Given the description of an element on the screen output the (x, y) to click on. 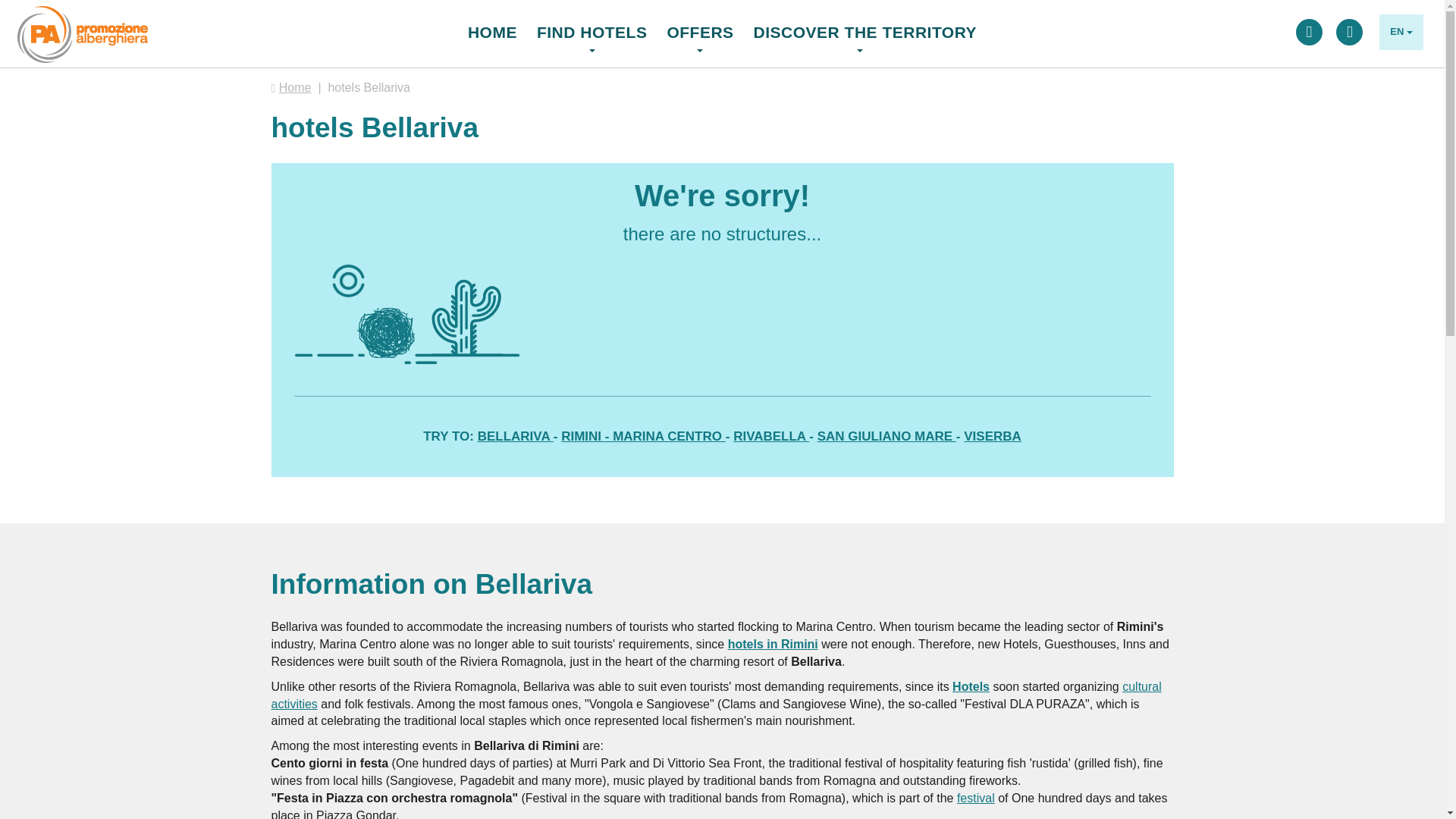
Promozione alberghiera (74, 18)
Promozione alberghiera (82, 34)
FIND HOTELS (592, 23)
Facebook PromozioneAlberghieraRimini (1308, 31)
HOME (497, 23)
EN (1400, 31)
Homepage (497, 23)
Instagram PARimini (1349, 31)
